Given the description of an element on the screen output the (x, y) to click on. 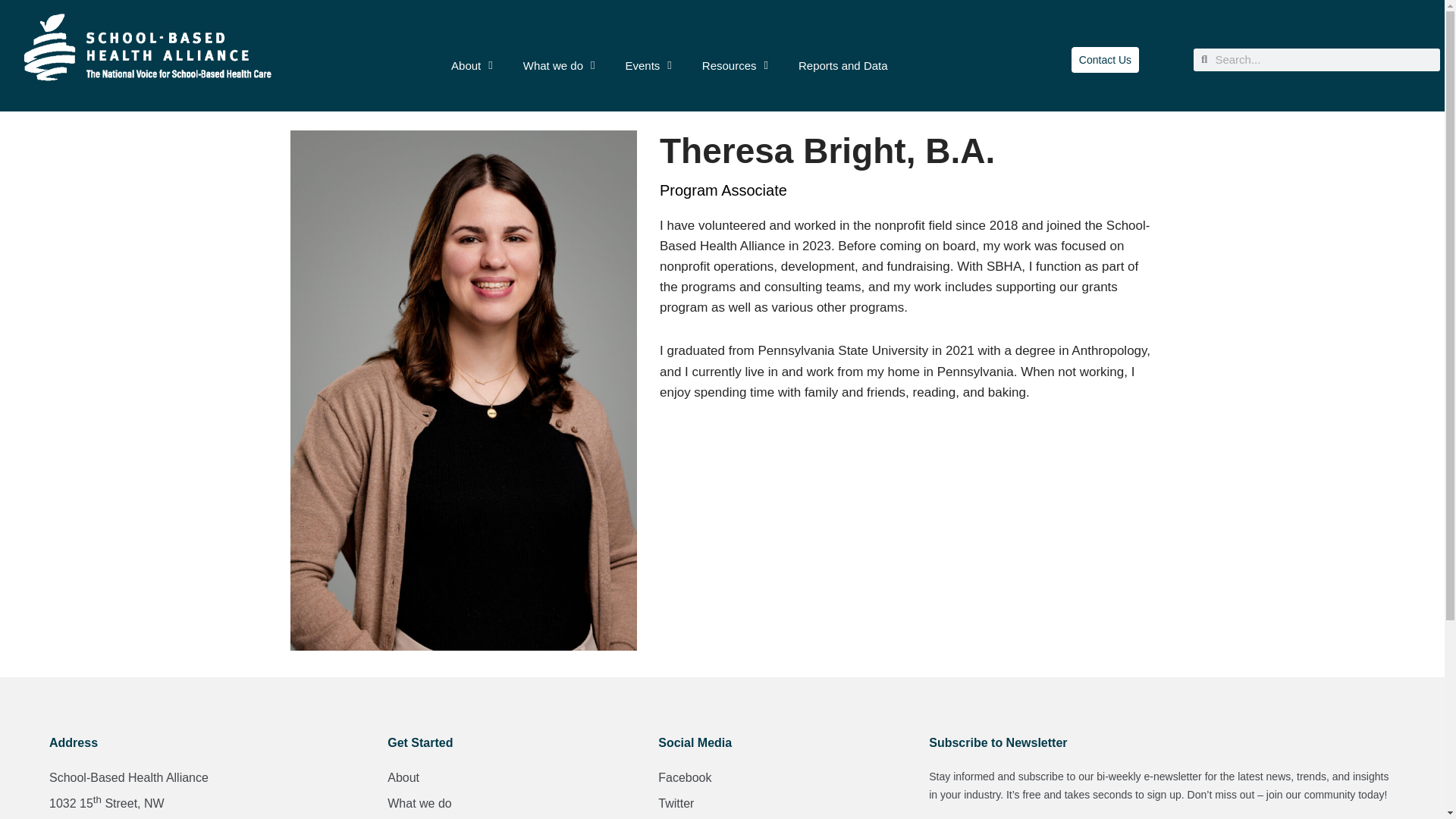
Reports and Data (842, 64)
Skip to content (11, 31)
What we do (559, 58)
Resources (735, 63)
About (471, 36)
Events (647, 63)
